Given the description of an element on the screen output the (x, y) to click on. 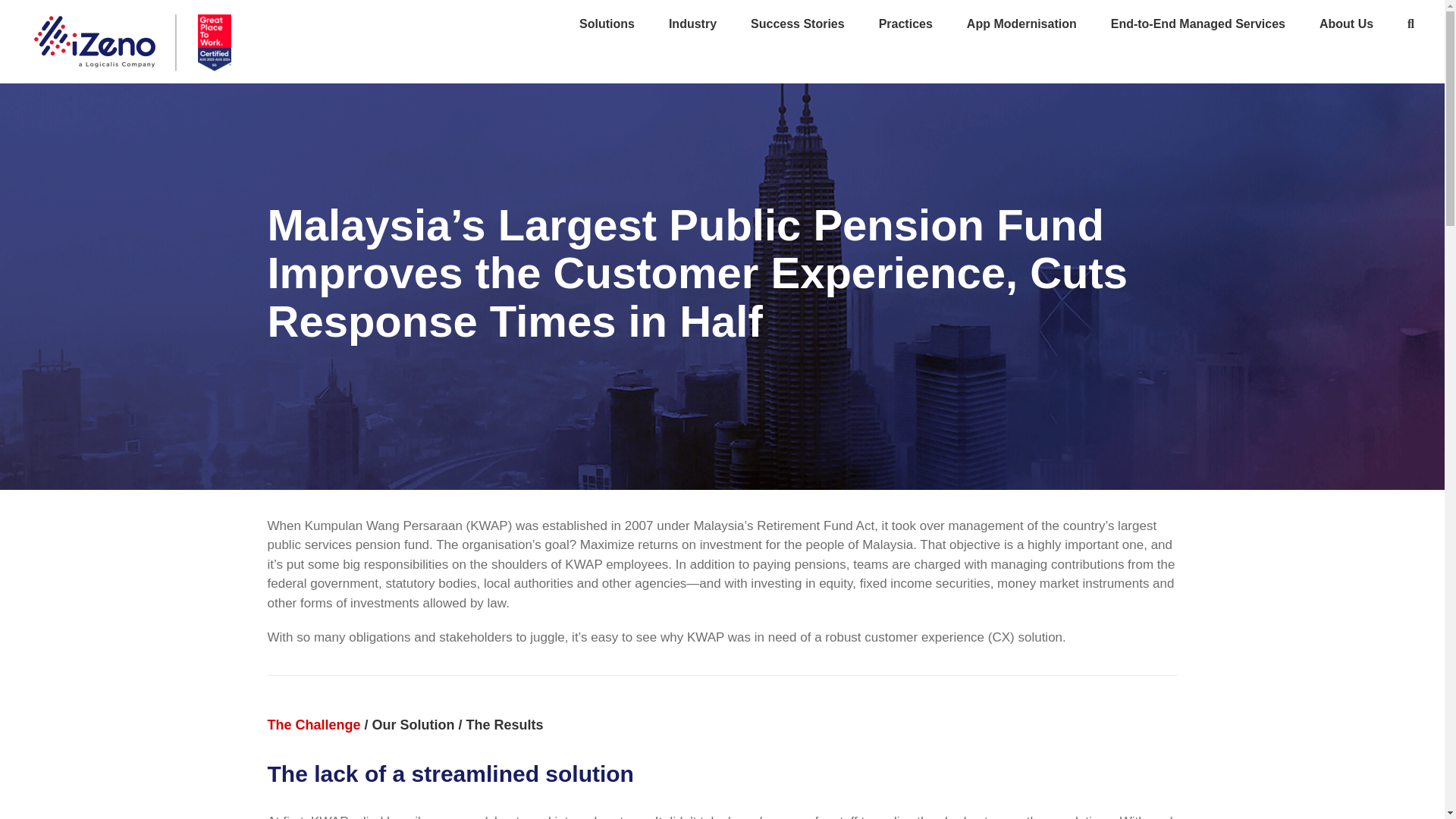
Search (1410, 22)
Practices (906, 22)
Solutions (606, 22)
Success Stories (797, 22)
Industry (692, 22)
